Given the description of an element on the screen output the (x, y) to click on. 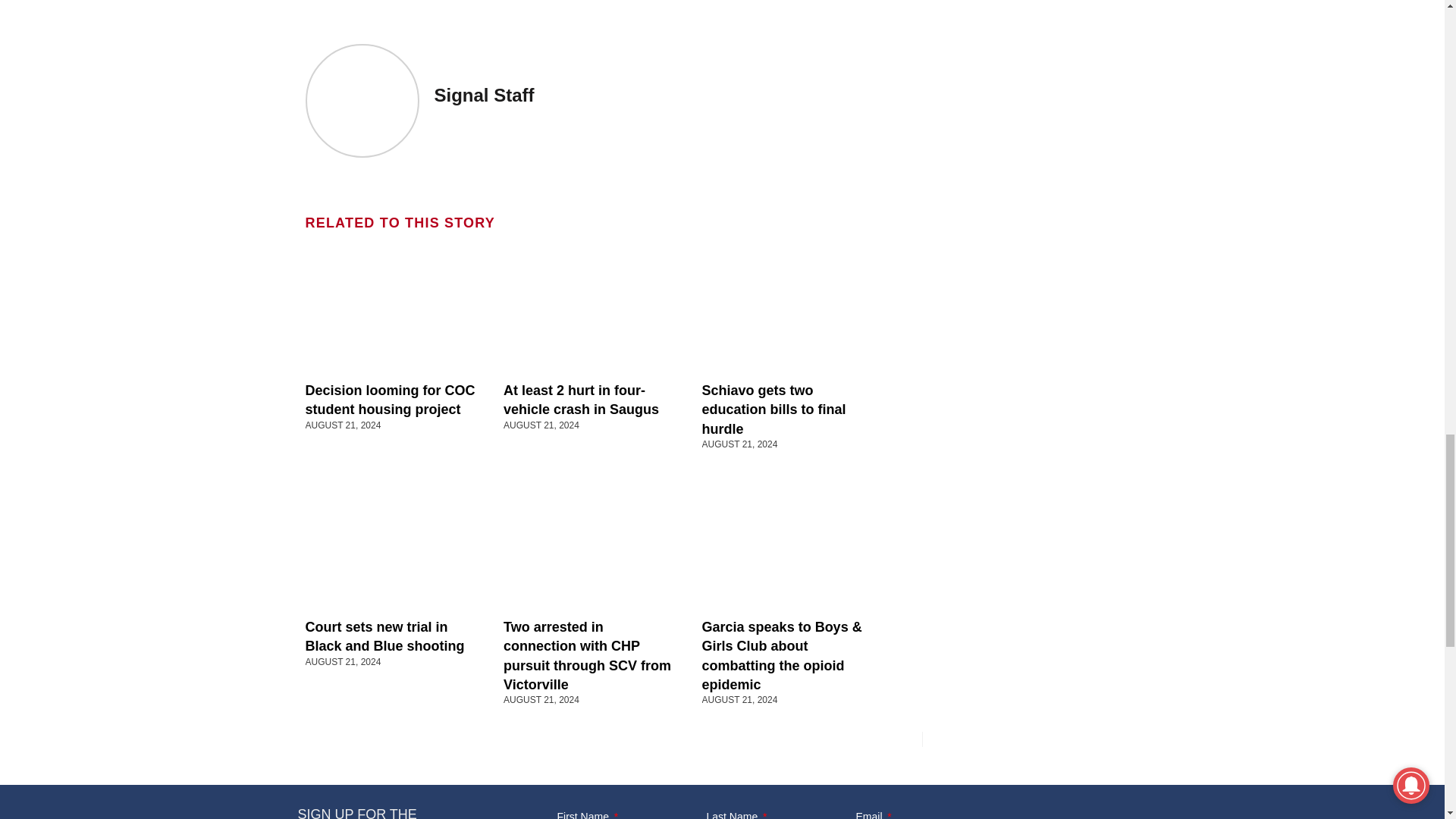
3rd party ad content (1031, 606)
3rd party ad content (1031, 43)
3rd party ad content (1031, 196)
3rd party ad content (1031, 401)
3rd party ad content (591, 11)
